Given the description of an element on the screen output the (x, y) to click on. 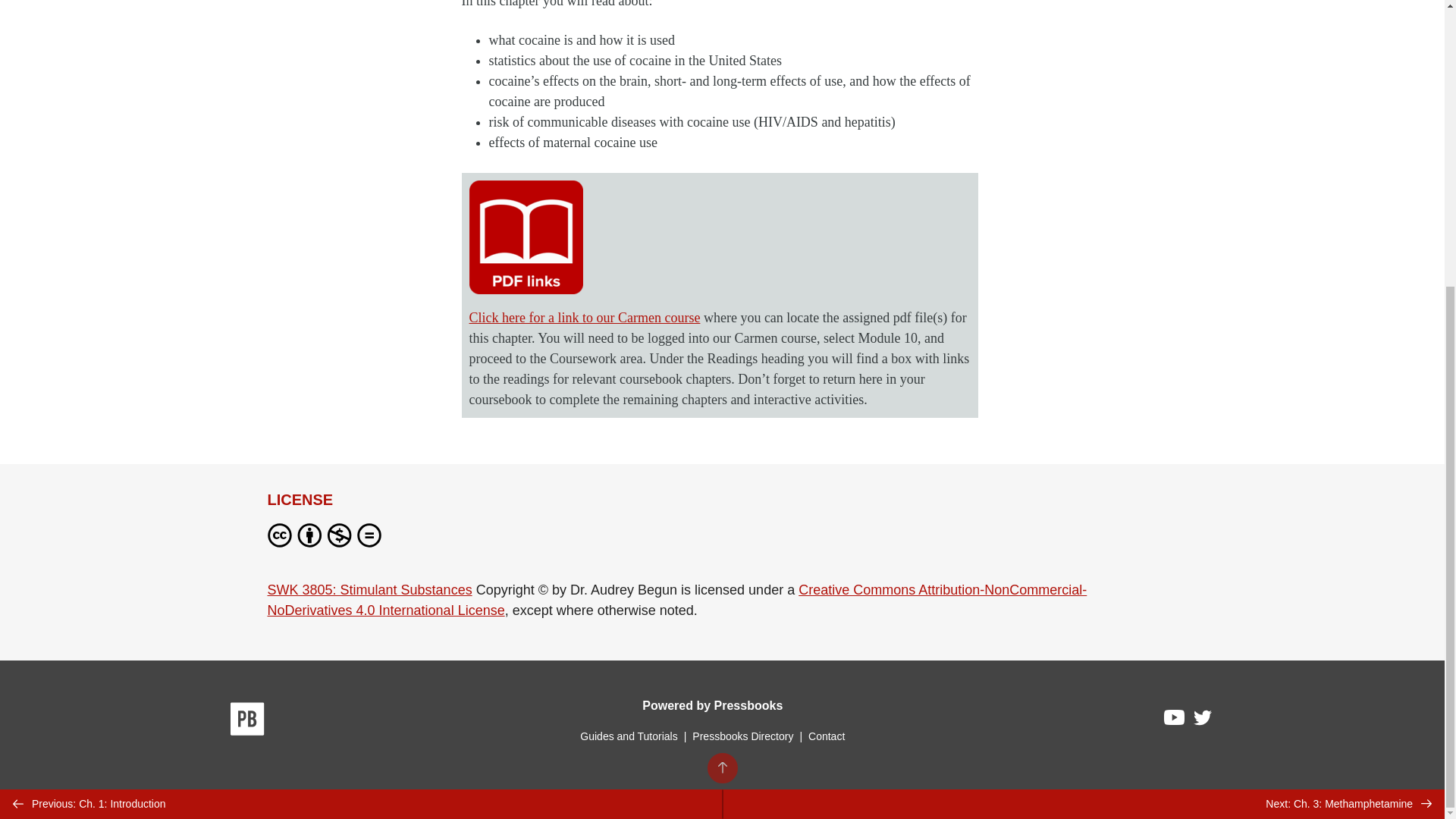
Guides and Tutorials (627, 736)
BACK TO TOP (721, 335)
Previous: Ch. 1: Introduction (361, 370)
Pressbooks on YouTube (1174, 721)
Powered by Pressbooks (712, 705)
Previous: Ch. 1: Introduction (361, 370)
Pressbooks Directory (742, 736)
Click here for a link to our Carmen course (584, 317)
SWK 3805: Stimulant Substances (368, 589)
Contact (826, 736)
